Given the description of an element on the screen output the (x, y) to click on. 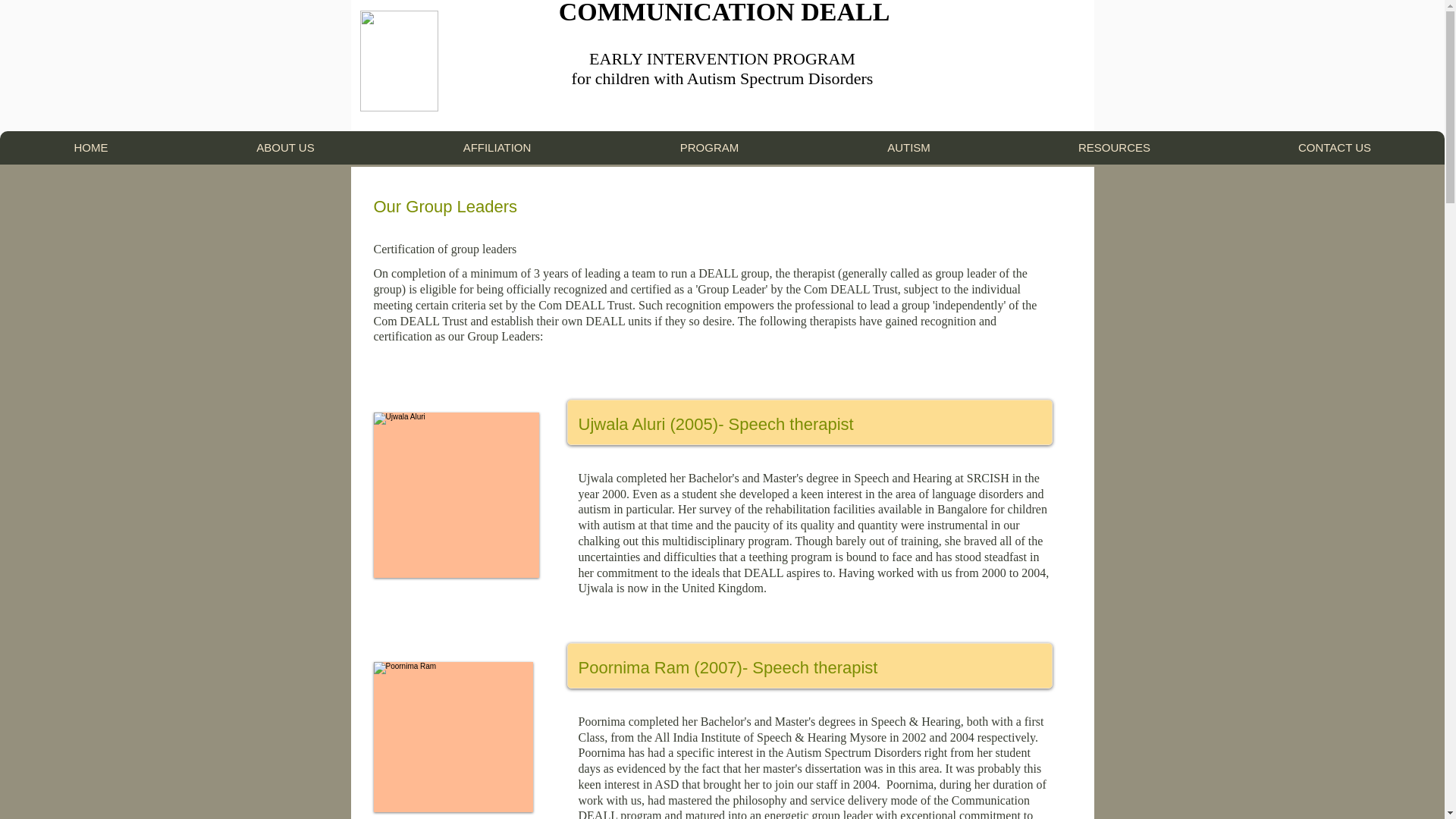
RESOURCES (1114, 147)
ABOUT US (285, 147)
AFFILIATION (496, 147)
AUTISM (908, 147)
HOME (91, 147)
PROGRAM (708, 147)
